Given the description of an element on the screen output the (x, y) to click on. 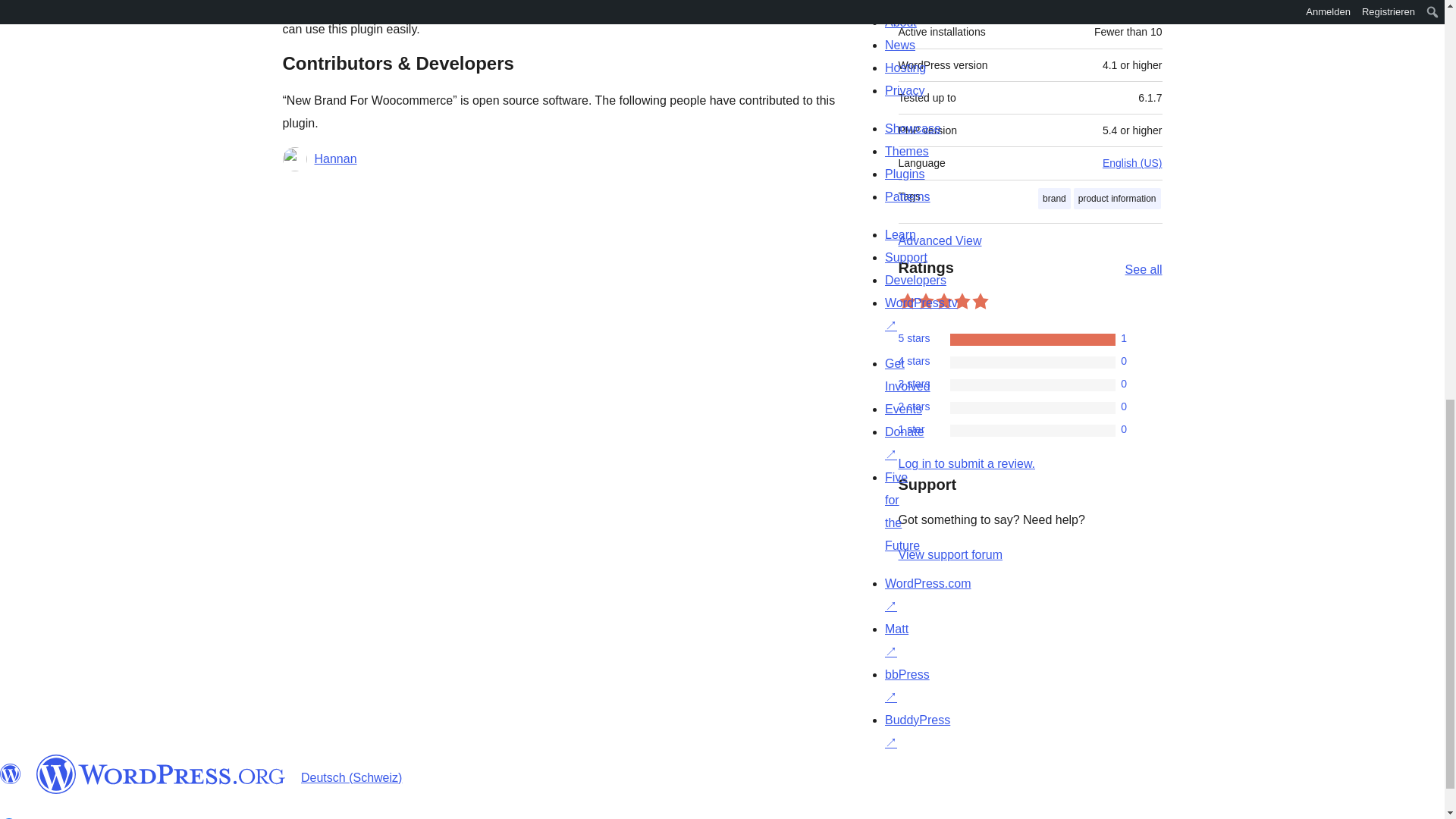
WordPress.org (10, 773)
Log in to WordPress.org (966, 463)
Hannan (335, 159)
WordPress.org (160, 773)
